Given the description of an element on the screen output the (x, y) to click on. 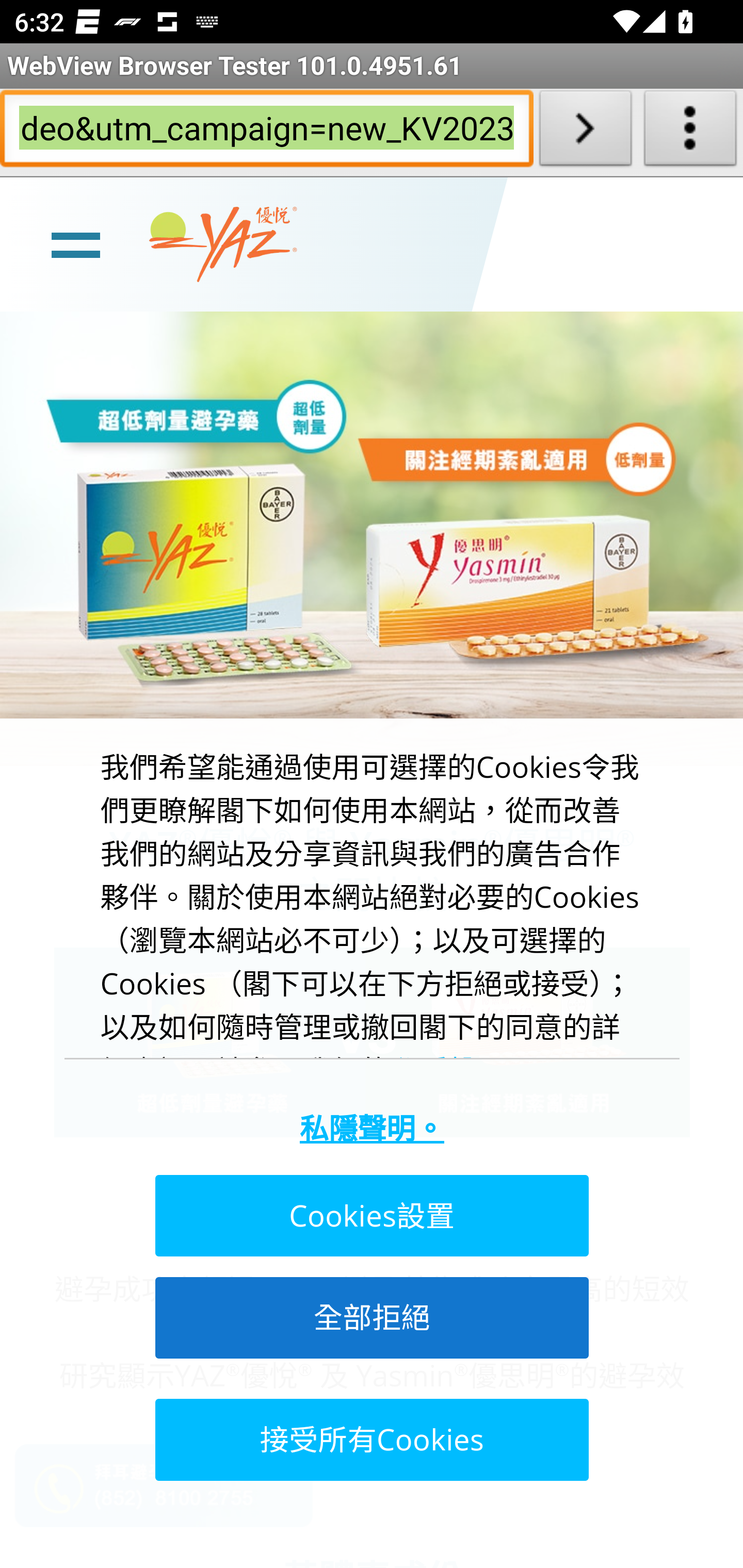
Load URL (585, 132)
About WebView (690, 132)
www.yaz (222, 244)
line Toggle burger menu (75, 242)
Cookies設置 (370, 1215)
全部拒絕 (370, 1317)
接受所有Cookies (370, 1439)
